Given the description of an element on the screen output the (x, y) to click on. 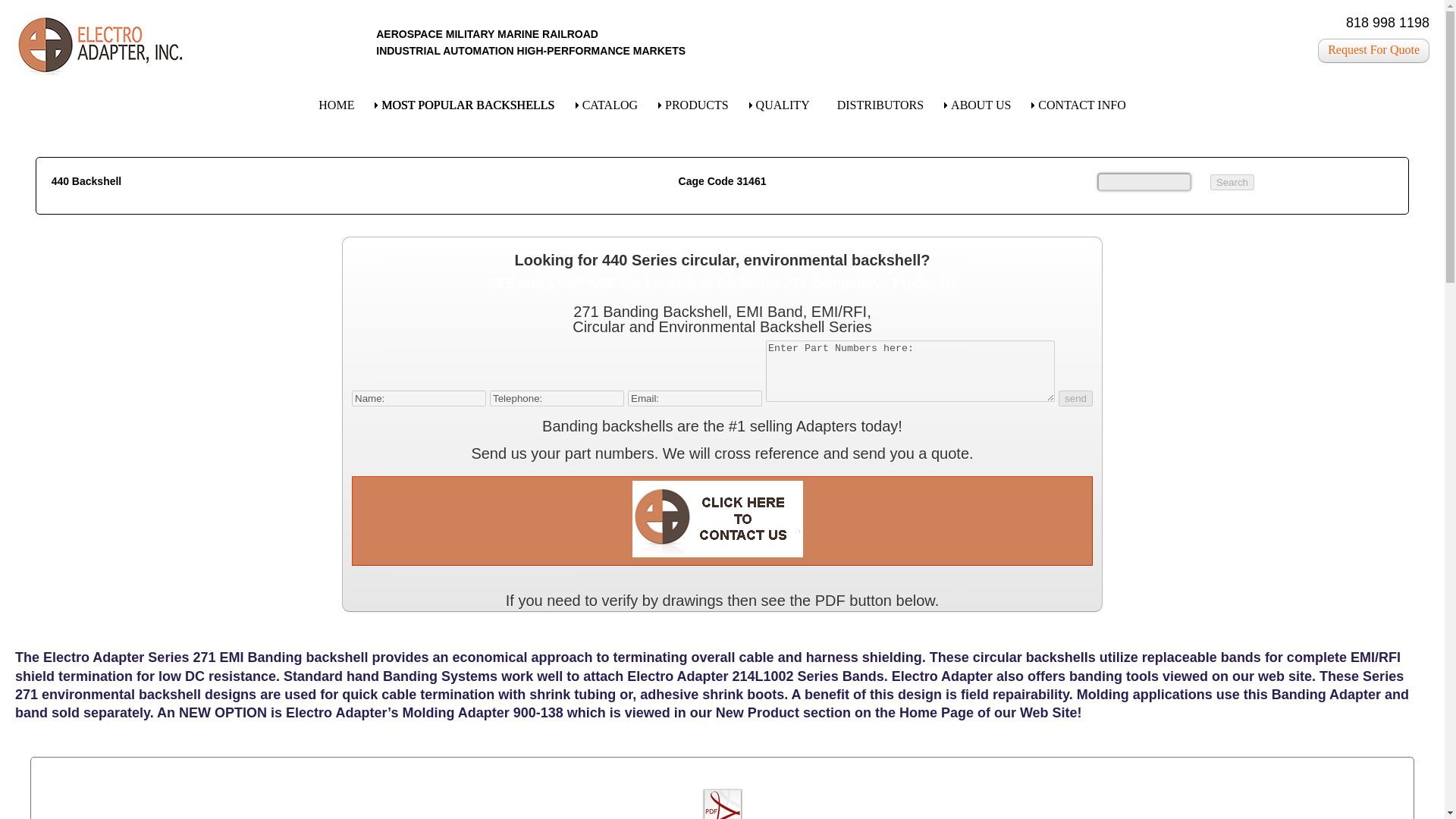
Name (419, 398)
Message (909, 371)
Telephone (556, 398)
Search (1231, 182)
CONTACT INFO (1081, 105)
DISTRIBUTORS (880, 105)
CATALOG (609, 105)
send (1075, 398)
MOST POPULAR BACKSHELLS (467, 105)
QUALITY (783, 105)
